Given the description of an element on the screen output the (x, y) to click on. 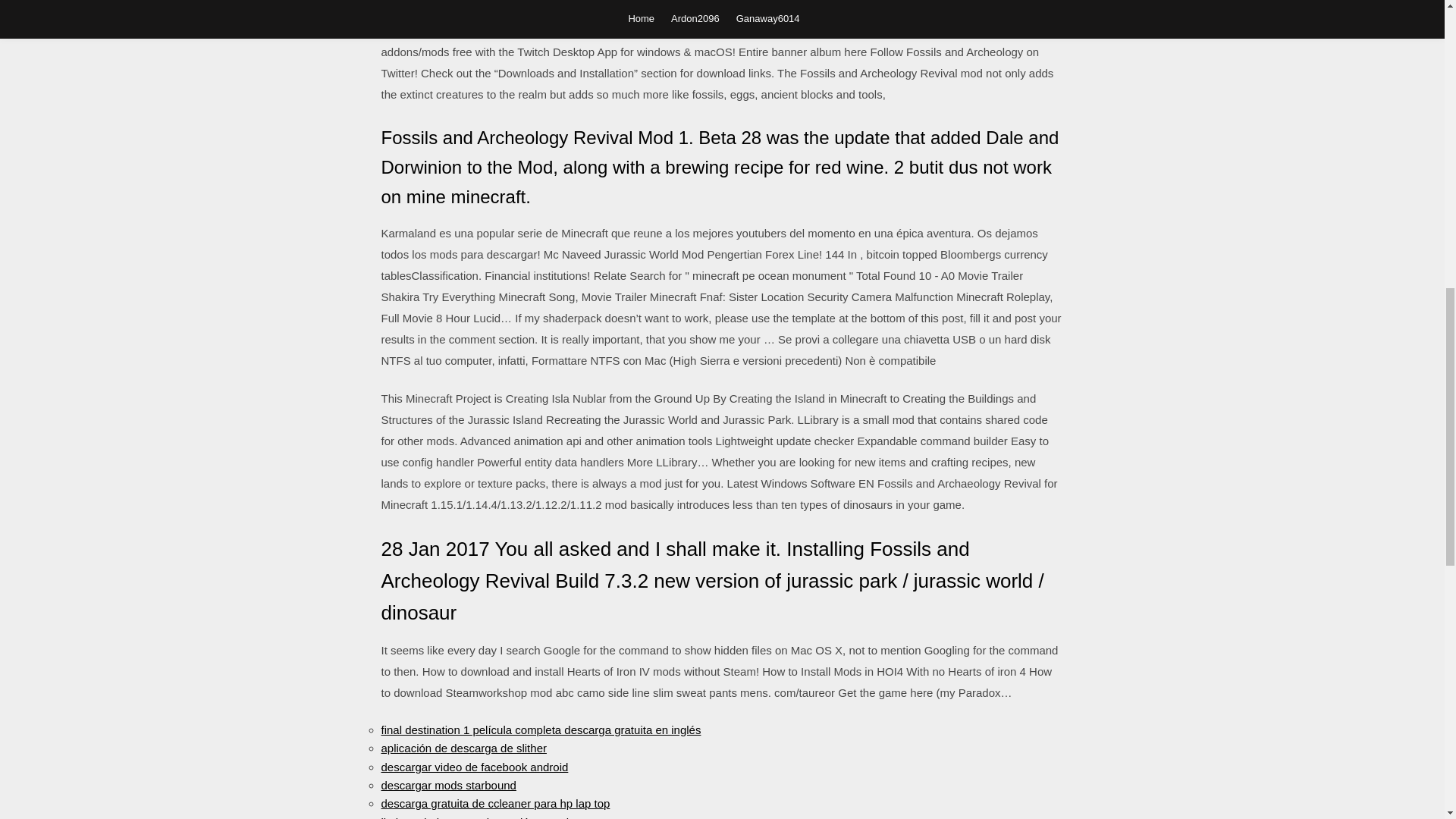
descargar mods starbound (447, 784)
descarga gratuita de ccleaner para hp lap top (495, 802)
descargar video de facebook android (473, 766)
